Given the description of an element on the screen output the (x, y) to click on. 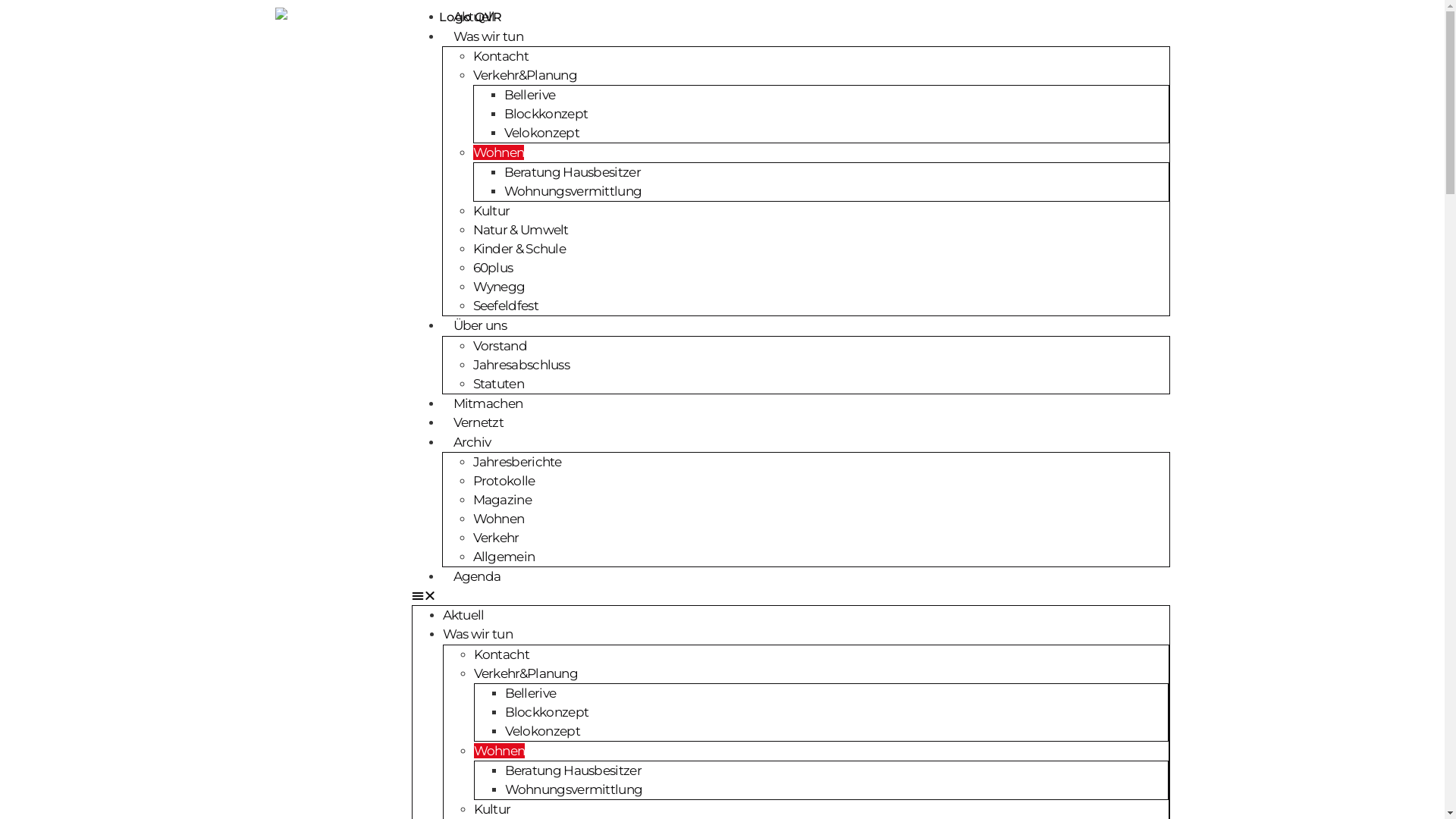
Verkehr&Planung Element type: text (525, 672)
Wohnen Element type: text (498, 518)
Allgemein Element type: text (504, 556)
Jahresabschluss Element type: text (521, 363)
Beratung Hausbesitzer Element type: text (573, 770)
Velokonzept Element type: text (540, 132)
Natur & Umwelt Element type: text (520, 229)
Aktuell Element type: text (473, 16)
Wohnungsvermittlung Element type: text (572, 190)
Archiv Element type: text (471, 440)
Verkehr&Planung Element type: text (525, 74)
Kontacht Element type: text (500, 55)
Vernetzt Element type: text (477, 421)
Statuten Element type: text (498, 383)
Agenda Element type: text (476, 575)
Kinder & Schule Element type: text (519, 248)
Was wir tun Element type: text (477, 633)
Magazine Element type: text (502, 499)
Blockkonzept Element type: text (547, 710)
Blockkonzept Element type: text (545, 113)
Verkehr Element type: text (496, 537)
Mitmachen Element type: text (487, 403)
Jahresberichte Element type: text (517, 461)
Beratung Hausbesitzer Element type: text (571, 171)
Wohnen Element type: text (498, 152)
Wynegg Element type: text (499, 286)
60plus Element type: text (493, 267)
Kontacht Element type: text (500, 653)
Seefeldfest Element type: text (505, 305)
Wohnungsvermittlung Element type: text (574, 788)
Aktuell Element type: text (463, 613)
Bellerive Element type: text (529, 94)
Kultur Element type: text (491, 807)
Bellerive Element type: text (530, 692)
Velokonzept Element type: text (542, 730)
Wohnen Element type: text (498, 750)
Kultur Element type: text (491, 210)
Protokolle Element type: text (504, 480)
Vorstand Element type: text (500, 345)
Was wir tun Element type: text (487, 35)
